Given the description of an element on the screen output the (x, y) to click on. 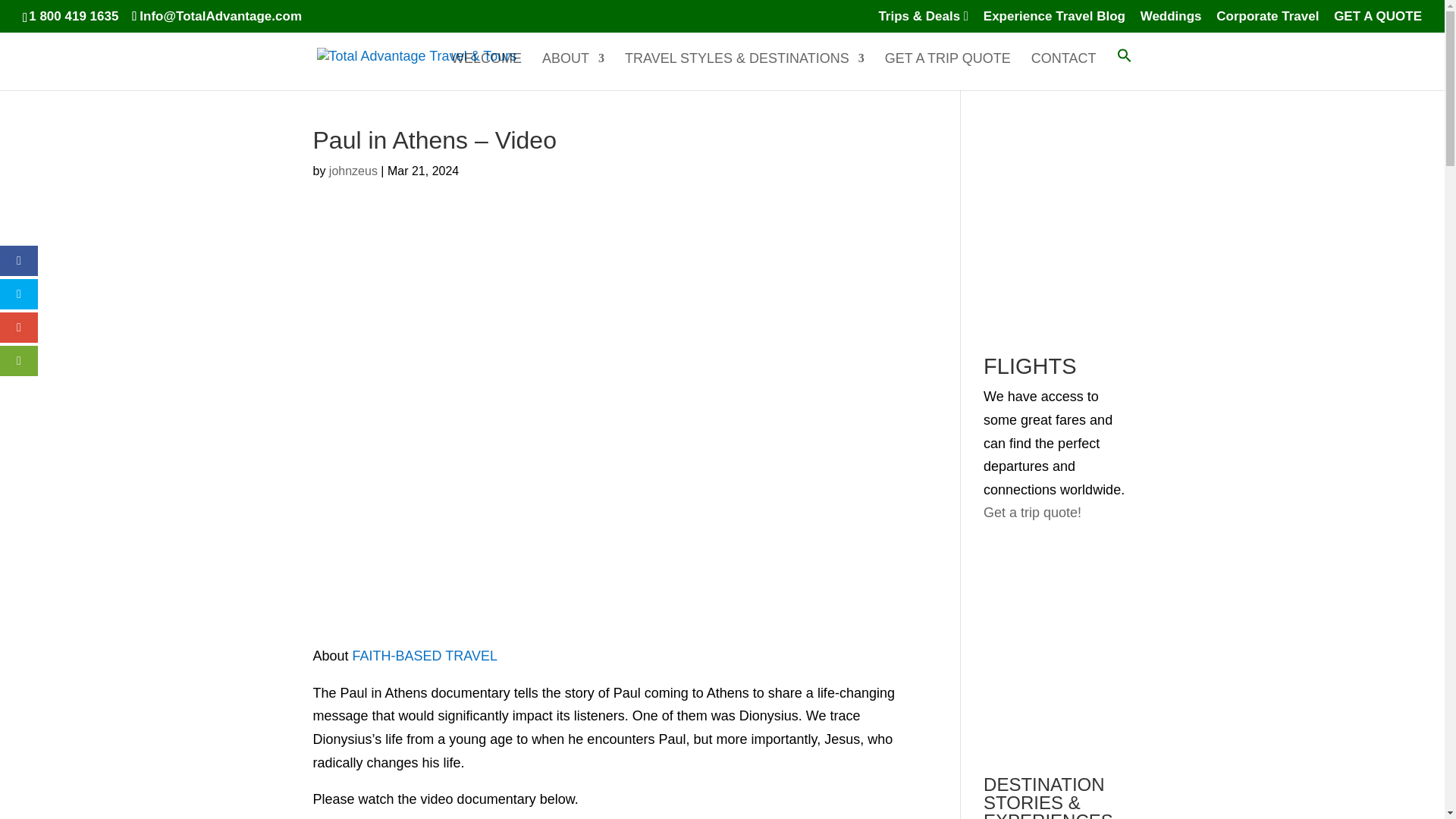
WELCOME (486, 70)
Weddings (1171, 20)
Corporate Travel (1267, 20)
ABOUT (572, 70)
GET A TRIP QUOTE (947, 70)
Experience Travel Blog (1054, 20)
FAITH-BASED TRAVEL (424, 655)
CONTACT (1063, 70)
GET A QUOTE (1377, 20)
Posts by johnzeus (353, 170)
